Given the description of an element on the screen output the (x, y) to click on. 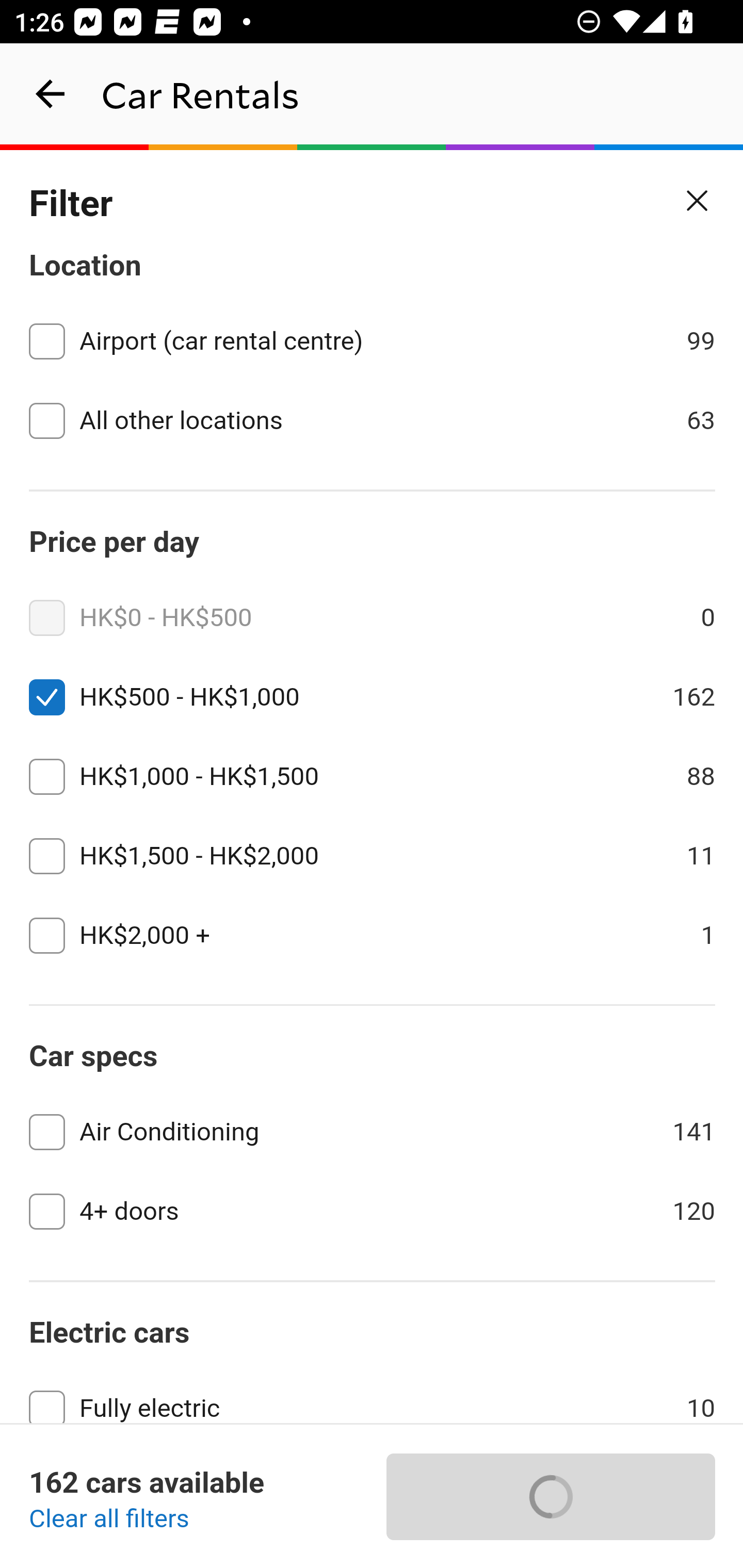
navigation_button (50, 93)
Close (697, 201)
Clear all filters (108, 1519)
